Given the description of an element on the screen output the (x, y) to click on. 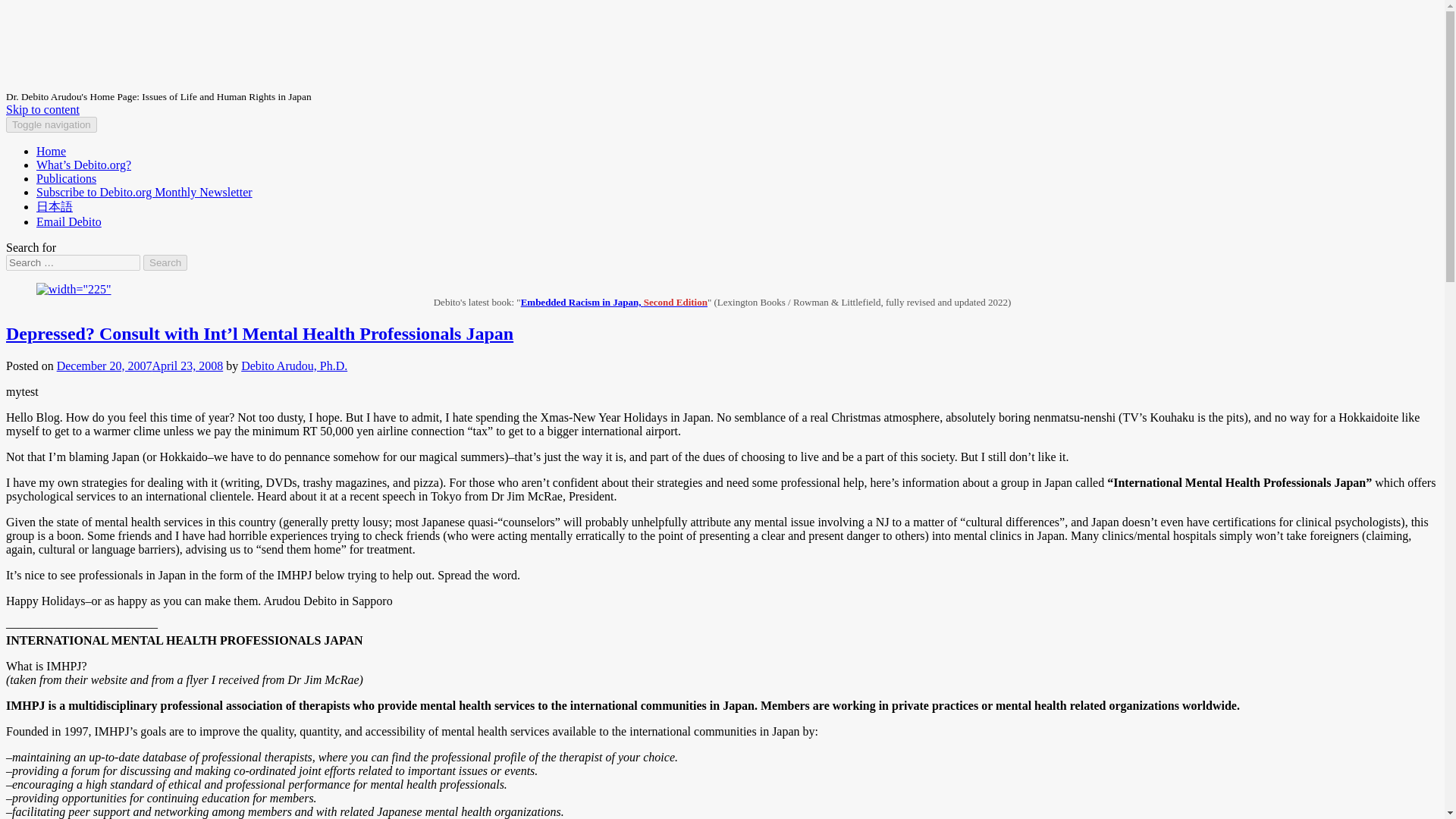
Skip to content (42, 109)
Search for: (72, 262)
Home (50, 151)
View all posts by Debito Arudou, Ph.D. (294, 365)
Email Debito (68, 221)
debito.org (58, 43)
Skip to content (42, 109)
December 20, 2007April 23, 2008 (140, 365)
Toggle navigation (51, 124)
Publications (66, 178)
debito.org (58, 43)
Debito Arudou, Ph.D. (294, 365)
Search (164, 262)
Subscribe to Debito.org Monthly Newsletter (143, 192)
Embedded Racism in Japan, Second Edition (614, 301)
